Given the description of an element on the screen output the (x, y) to click on. 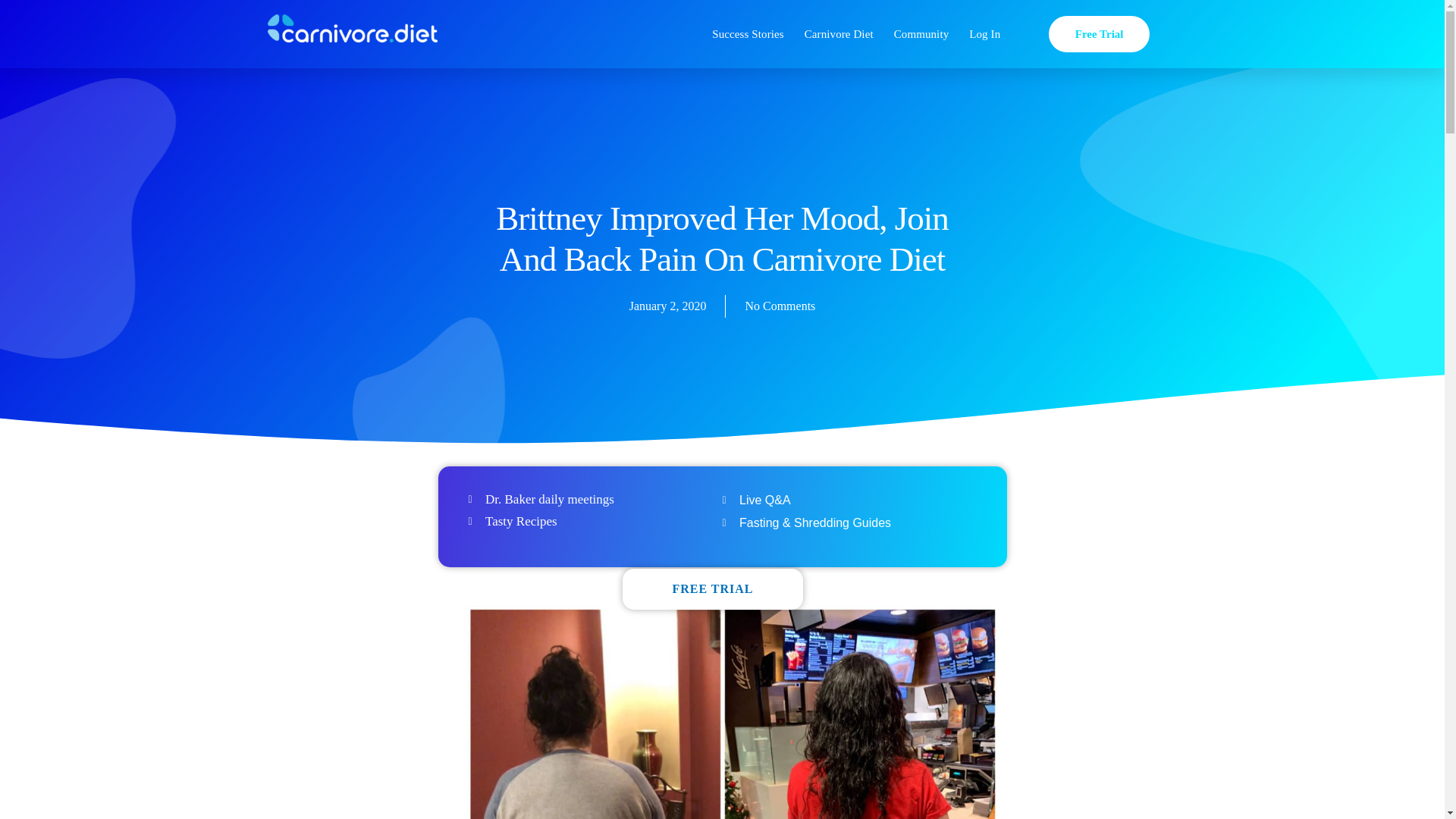
January 2, 2020 (667, 305)
Carnivore Diet (839, 33)
No Comments (779, 305)
FREE TRIAL (712, 588)
Success Stories (747, 33)
Free Trial (1099, 34)
